Given the description of an element on the screen output the (x, y) to click on. 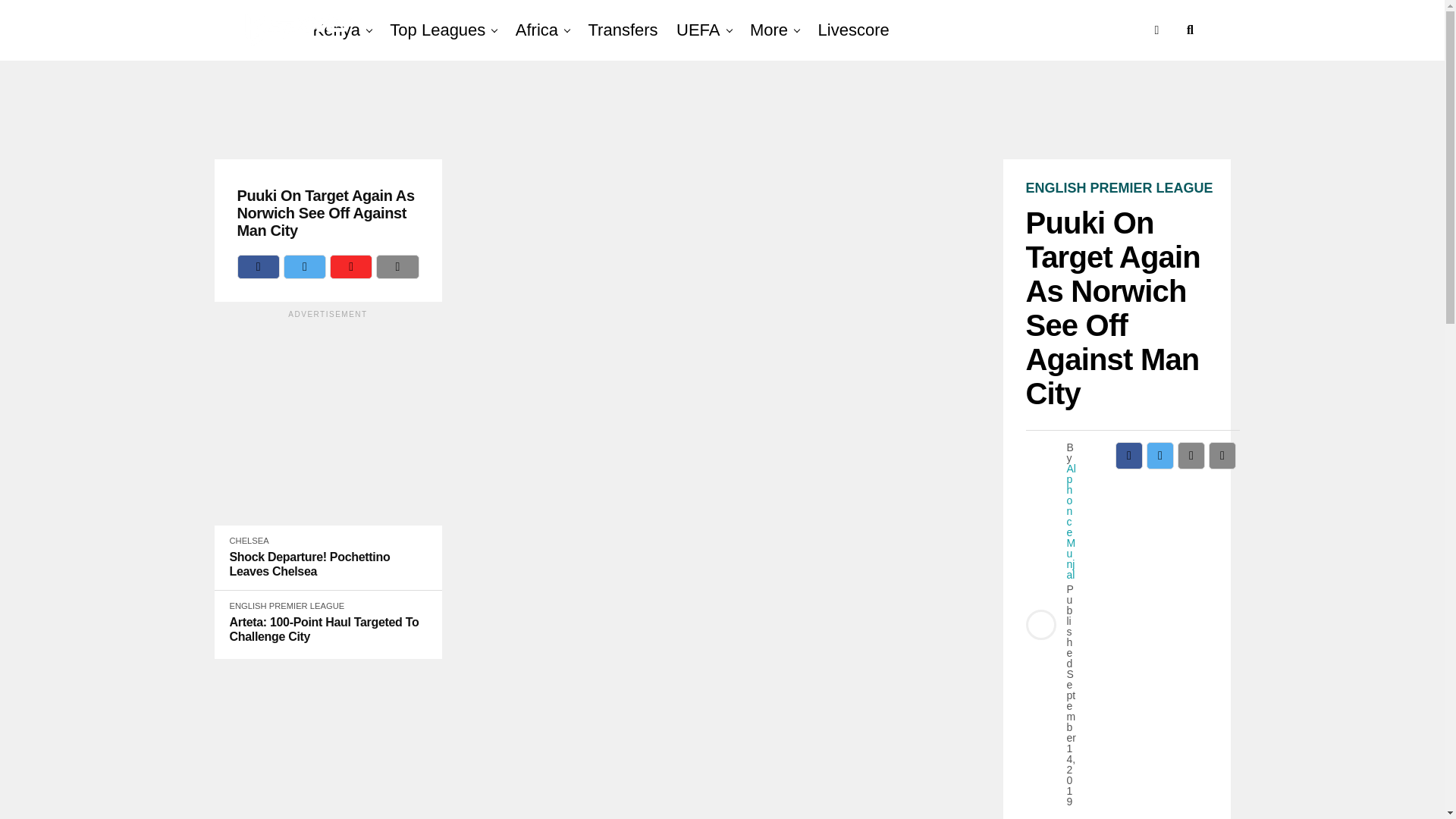
Share on Facebook (257, 266)
Tweet This Post (1160, 455)
Share on Facebook (1128, 455)
Share on Flipboard (351, 266)
Tweet This Post (304, 266)
